Given the description of an element on the screen output the (x, y) to click on. 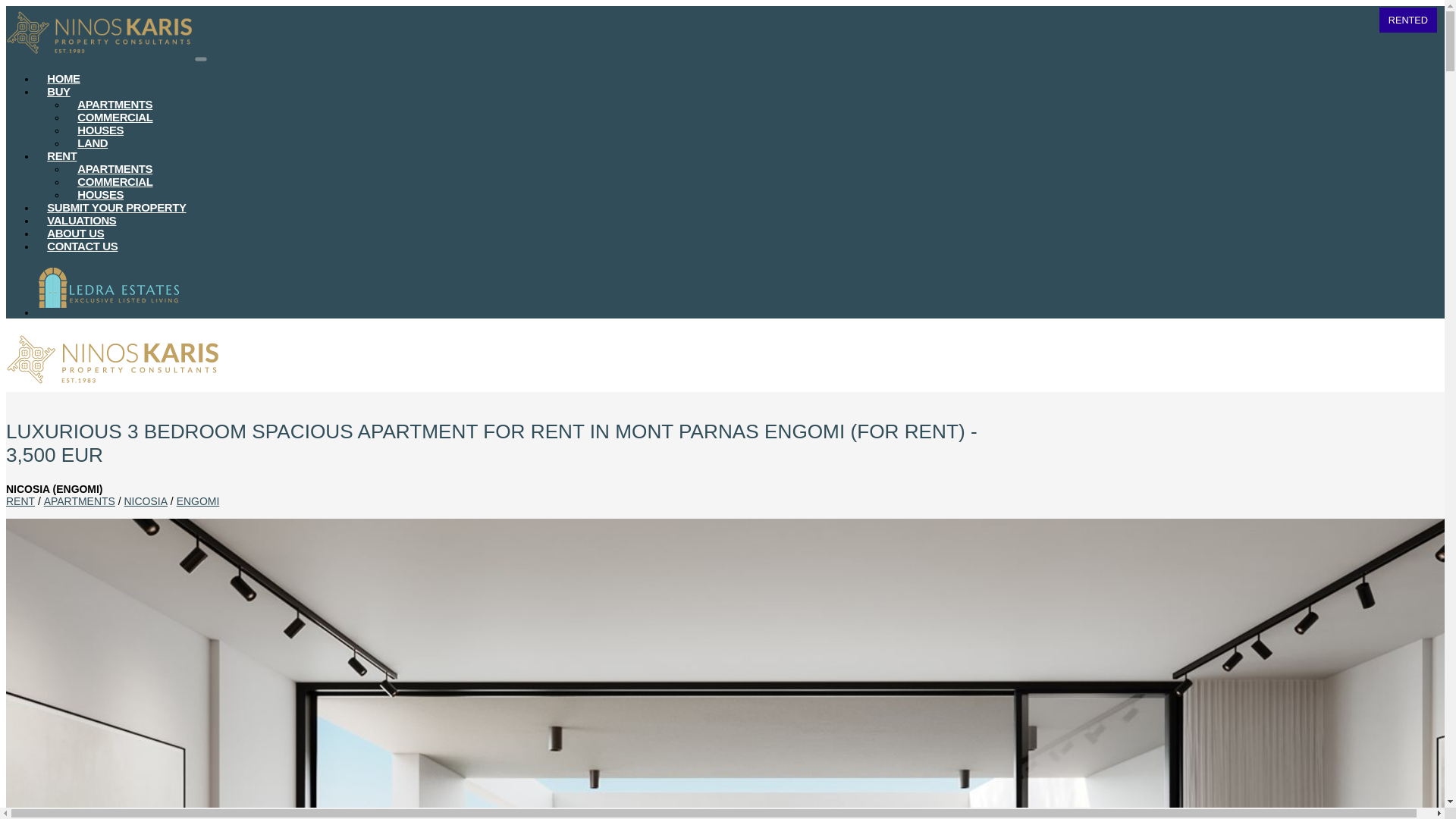
APARTMENTS (114, 104)
COMMERCIAL (114, 182)
NICOSIA (145, 500)
ABOUT US (75, 233)
SUBMIT YOUR PROPERTY (116, 207)
HOUSES (99, 195)
LAND (91, 143)
RENT (61, 156)
VALUATIONS (82, 220)
ENGOMI (197, 500)
CONTACT US (82, 246)
RENT (19, 500)
COMMERCIAL (114, 117)
APARTMENTS (79, 500)
HOUSES (99, 130)
